Given the description of an element on the screen output the (x, y) to click on. 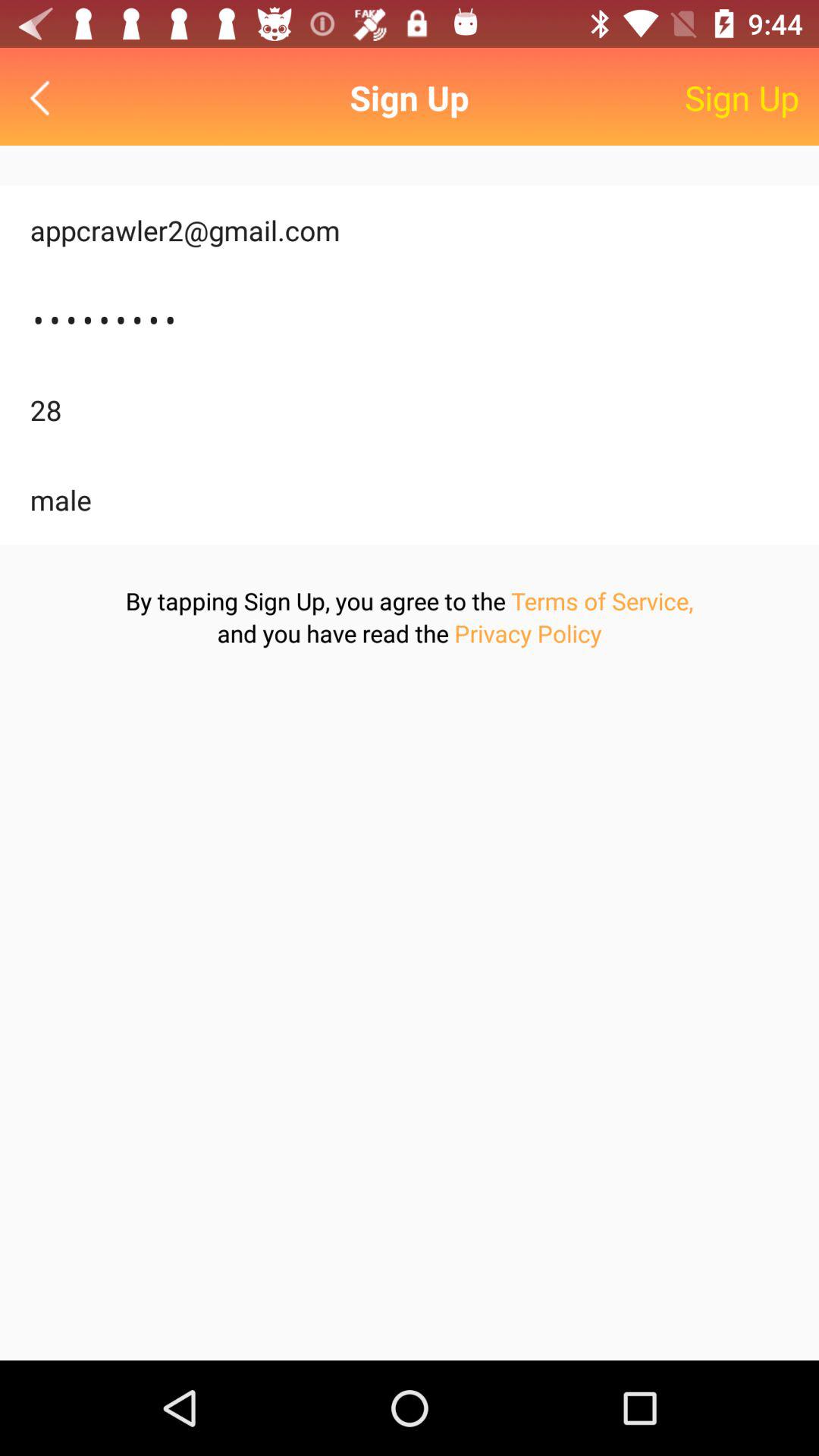
swipe to crowd3116 item (409, 320)
